Given the description of an element on the screen output the (x, y) to click on. 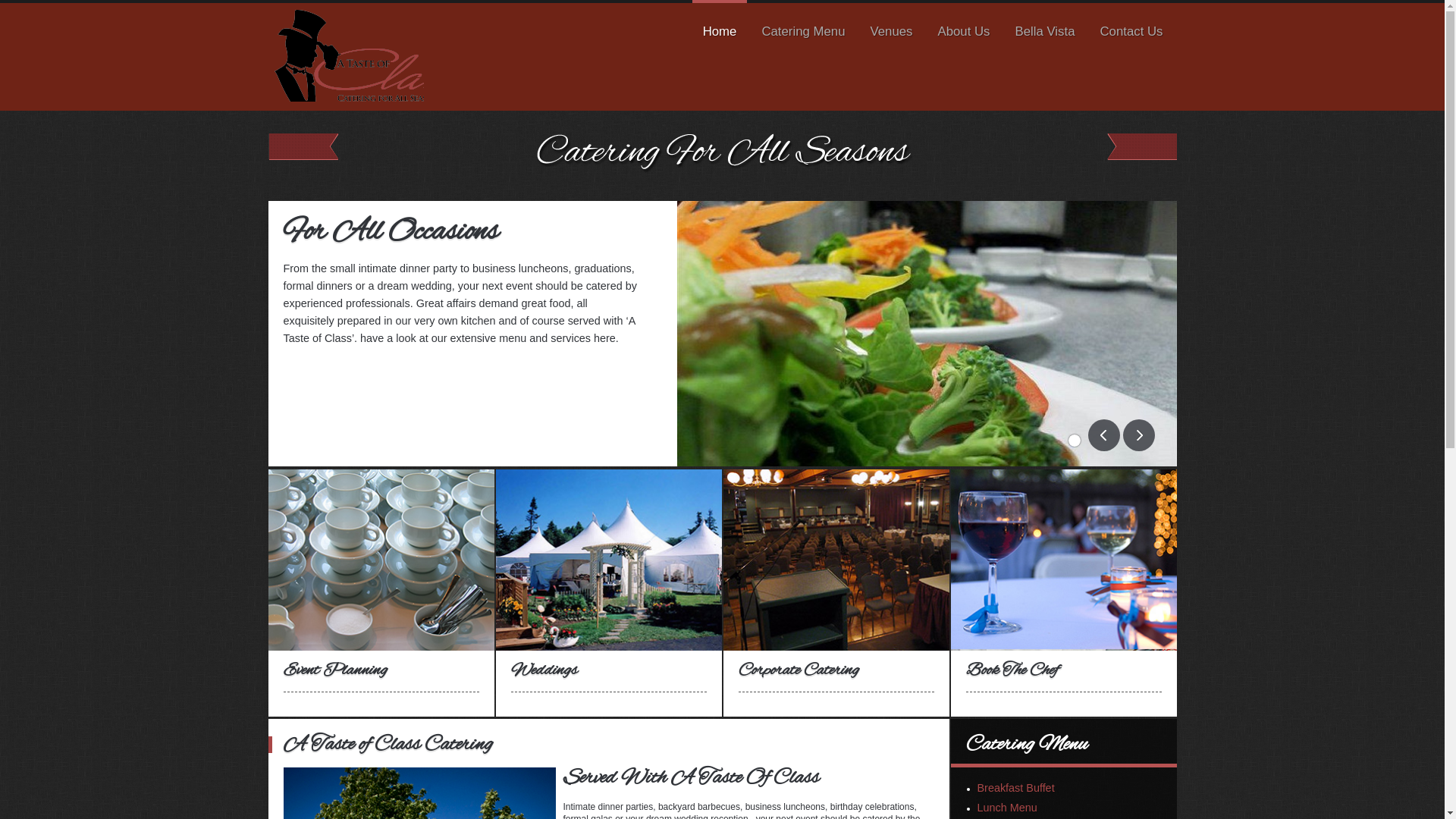
About Us Element type: text (963, 36)
Home Element type: text (719, 36)
Contact Us Element type: text (1130, 36)
Venues Element type: text (890, 36)
Lunch Menu Element type: text (1006, 807)
Catering Menu Element type: text (802, 36)
Book The Chef Element type: text (1012, 669)
Corporate Catering Element type: text (798, 669)
Breakfast Buffet Element type: text (1015, 787)
Event Planning Element type: text (335, 669)
Weddings Element type: text (544, 669)
Bella Vista Element type: text (1044, 36)
